Given the description of an element on the screen output the (x, y) to click on. 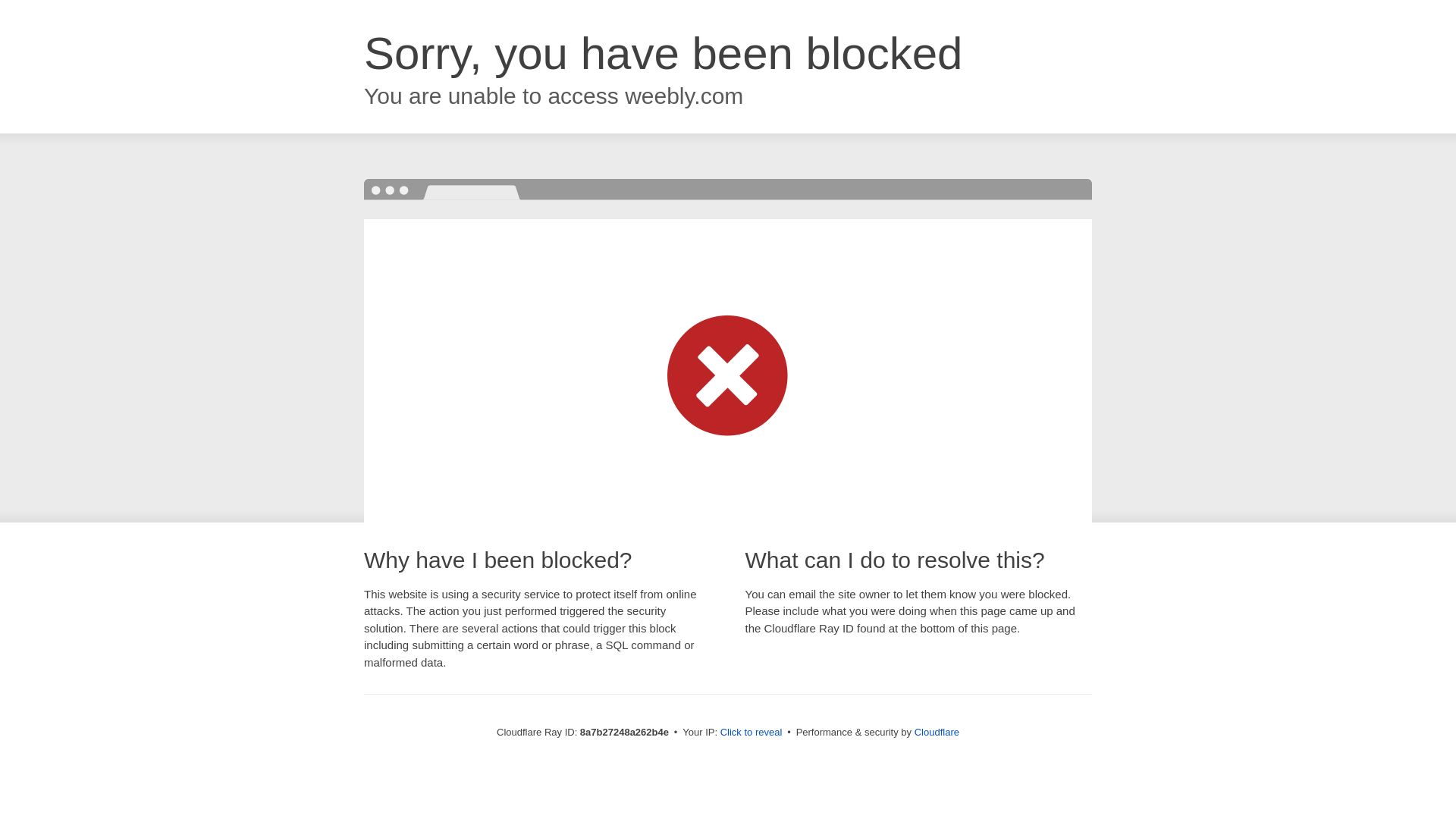
Cloudflare (936, 731)
Click to reveal (751, 732)
